Given the description of an element on the screen output the (x, y) to click on. 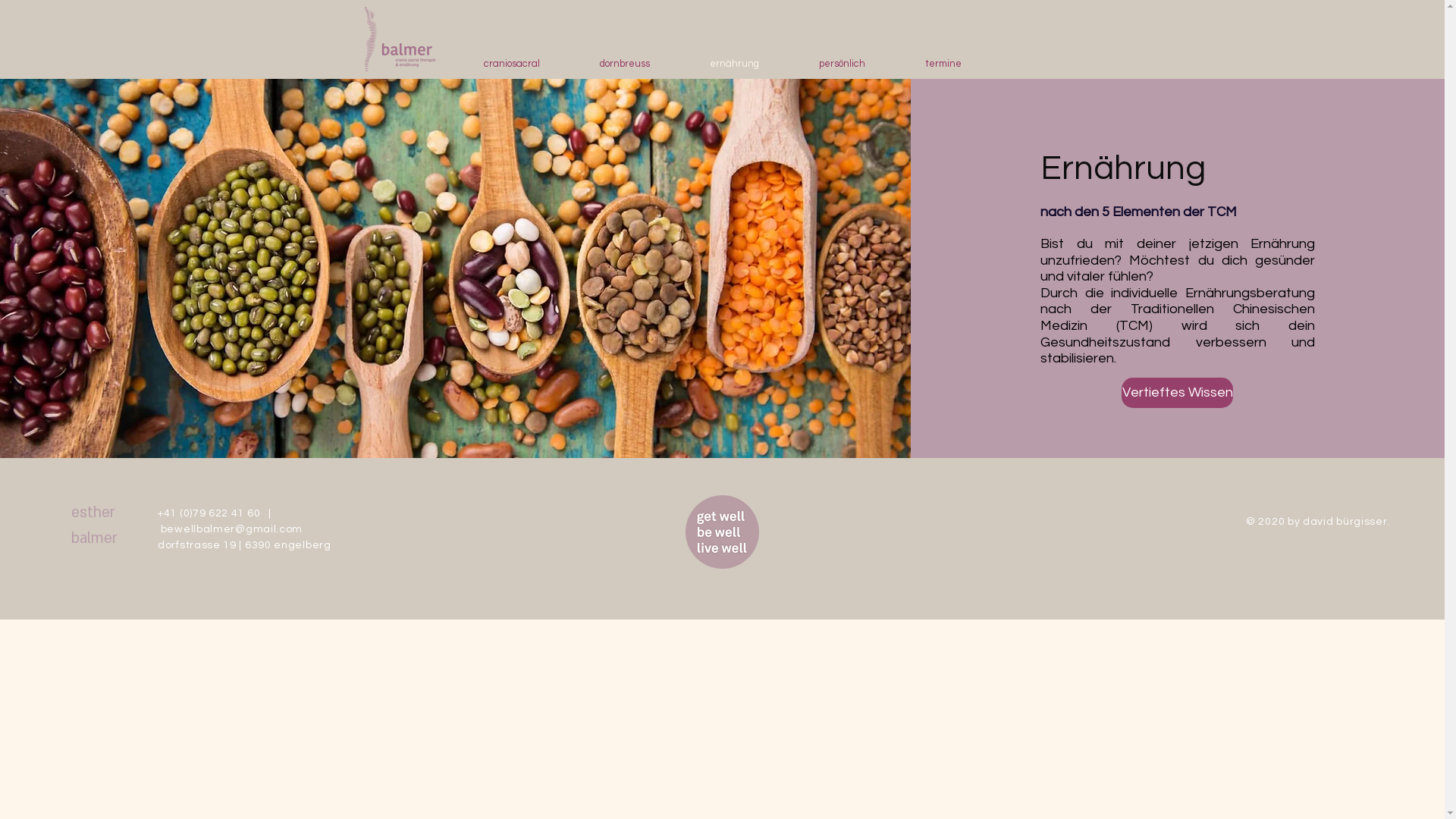
dornbreuss Element type: text (625, 63)
esther Element type: text (93, 512)
Vertieftes Wissen Element type: text (1177, 392)
termine Element type: text (942, 63)
craniosacral Element type: text (511, 63)
bewellbalmer@gmail.com Element type: text (231, 529)
